Given the description of an element on the screen output the (x, y) to click on. 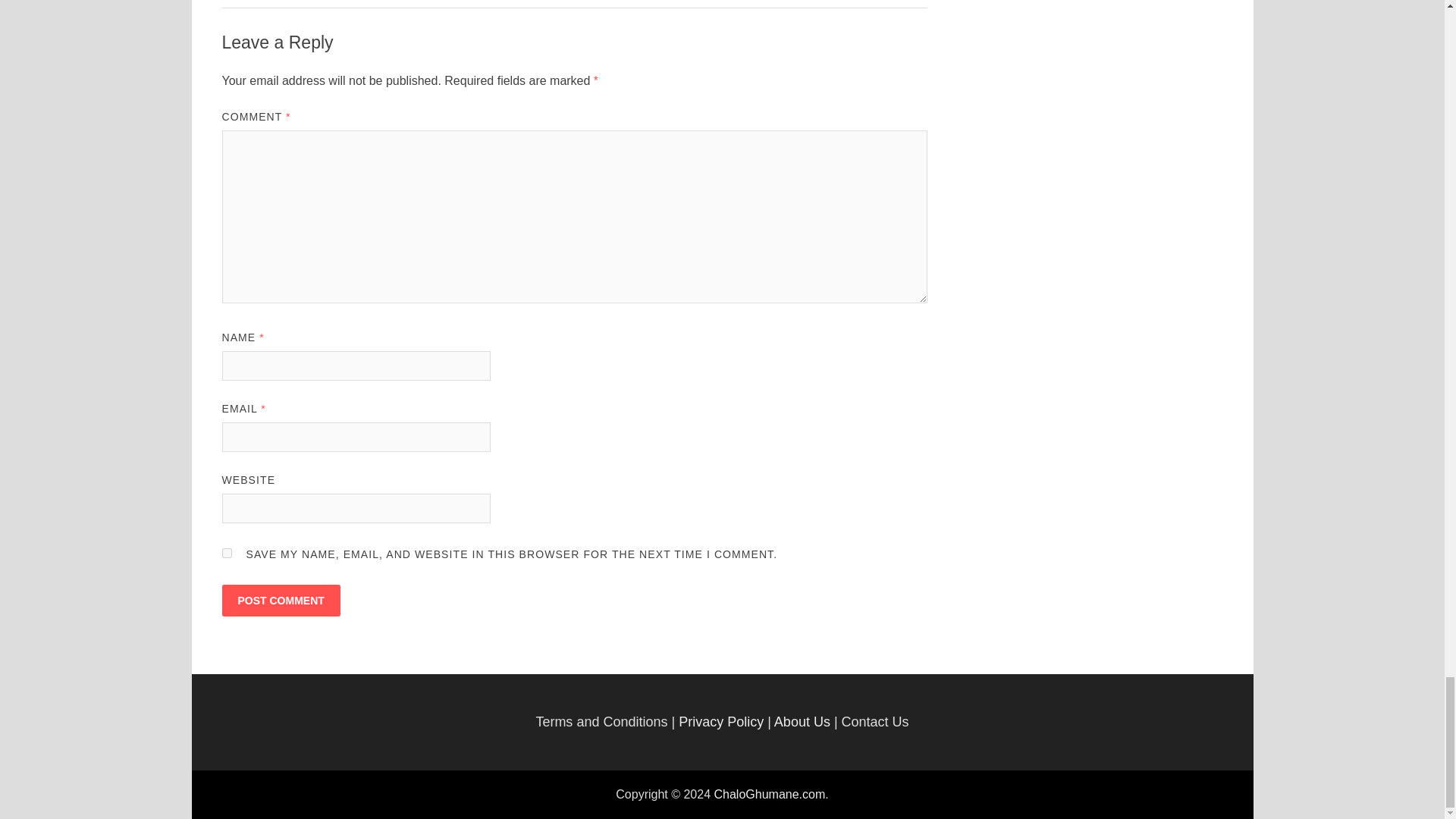
yes (226, 552)
Post Comment (280, 600)
ChaloGhumane.com (769, 793)
